Given the description of an element on the screen output the (x, y) to click on. 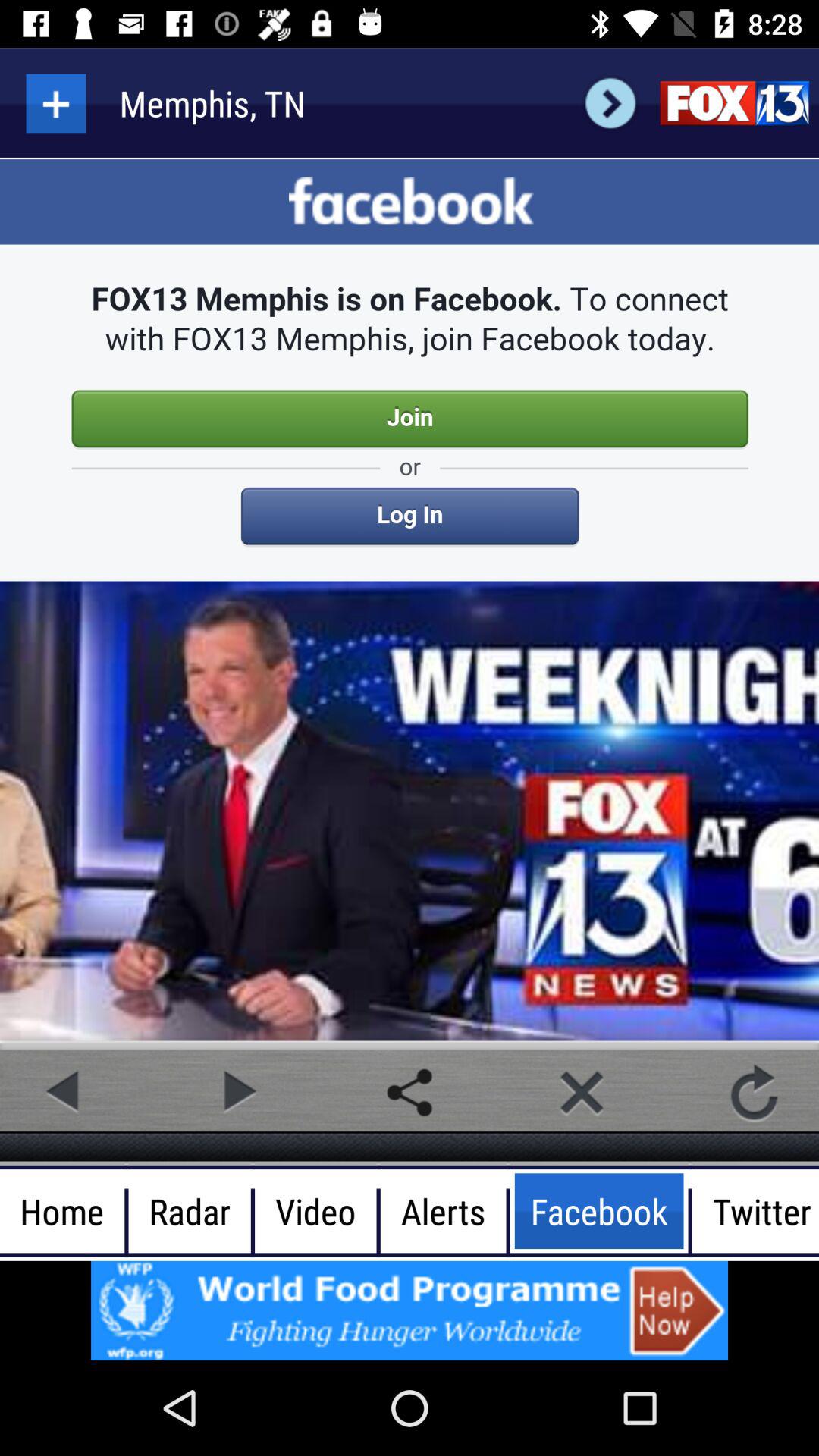
share this (409, 1092)
